Given the description of an element on the screen output the (x, y) to click on. 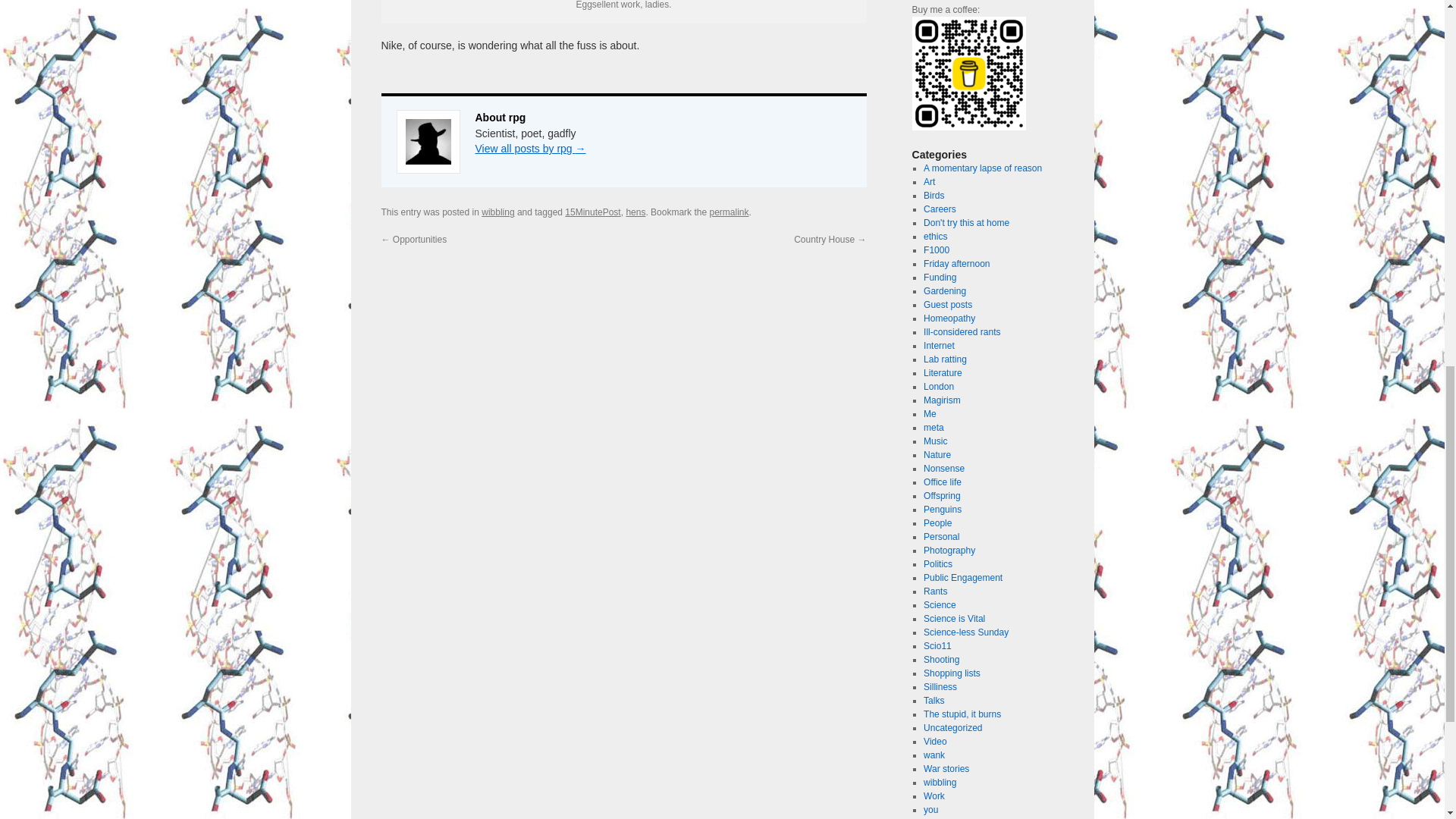
wibbling (497, 212)
Permalink to Take Five (728, 212)
15MinutePost (592, 212)
hens (635, 212)
permalink (728, 212)
